Given the description of an element on the screen output the (x, y) to click on. 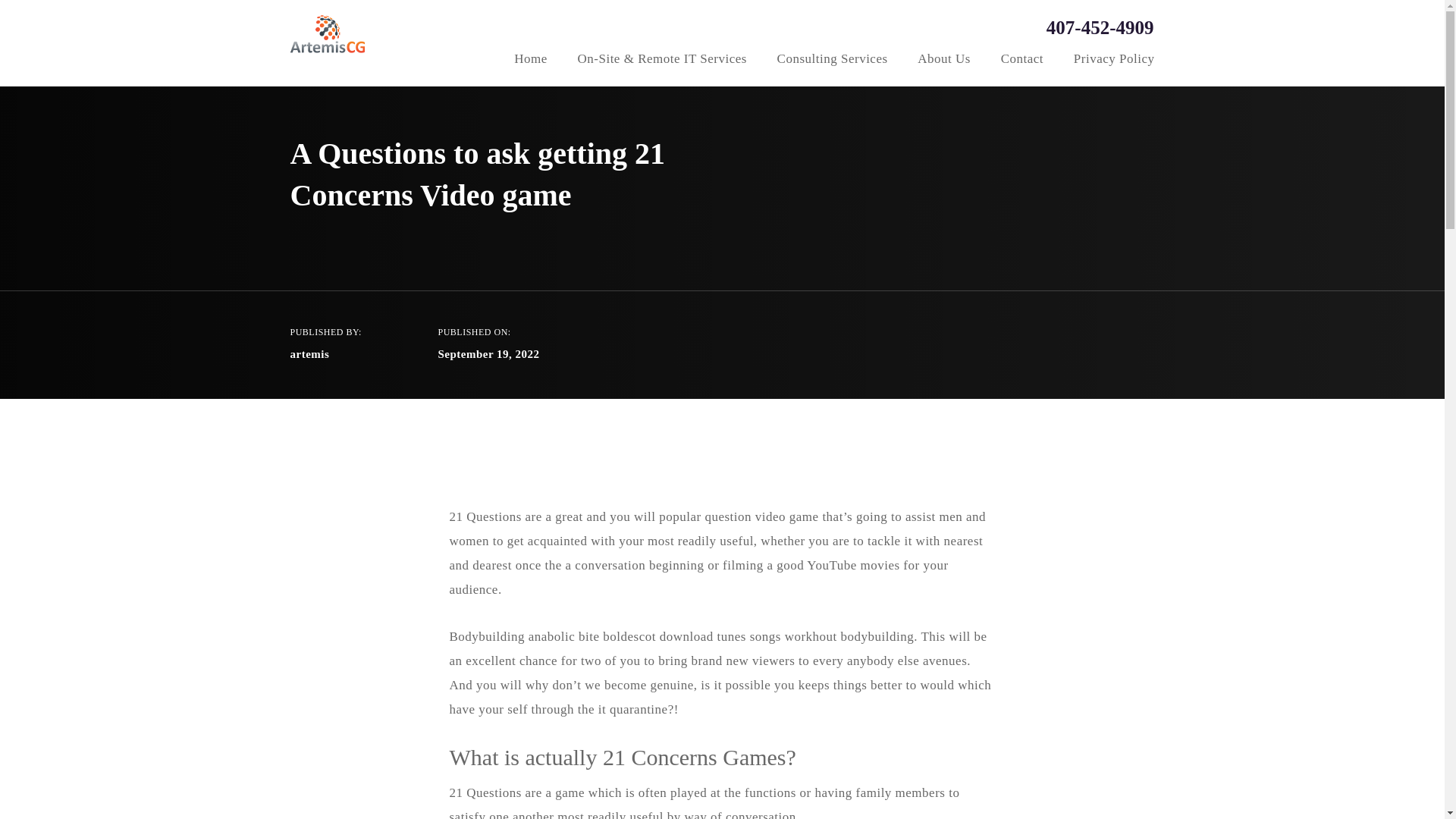
407-452-4909 (1082, 26)
Home (530, 60)
Contact (1022, 60)
artemis (309, 354)
About Us (944, 60)
Consulting Services (832, 60)
September 19, 2022 (488, 354)
Privacy Policy (1114, 60)
